Given the description of an element on the screen output the (x, y) to click on. 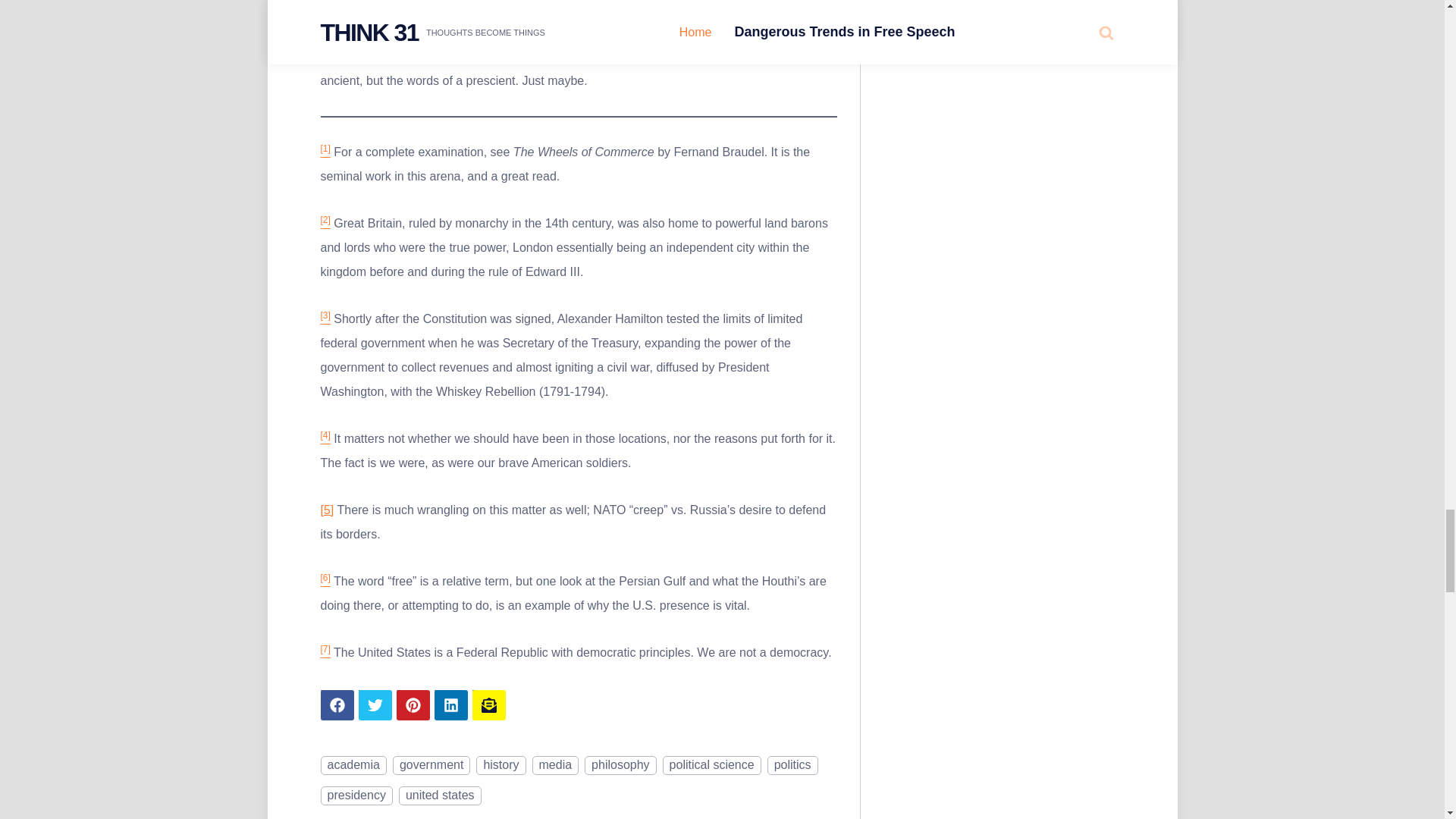
academia (352, 764)
history (500, 764)
political science (711, 764)
media (555, 764)
government (431, 764)
philosophy (620, 764)
